Given the description of an element on the screen output the (x, y) to click on. 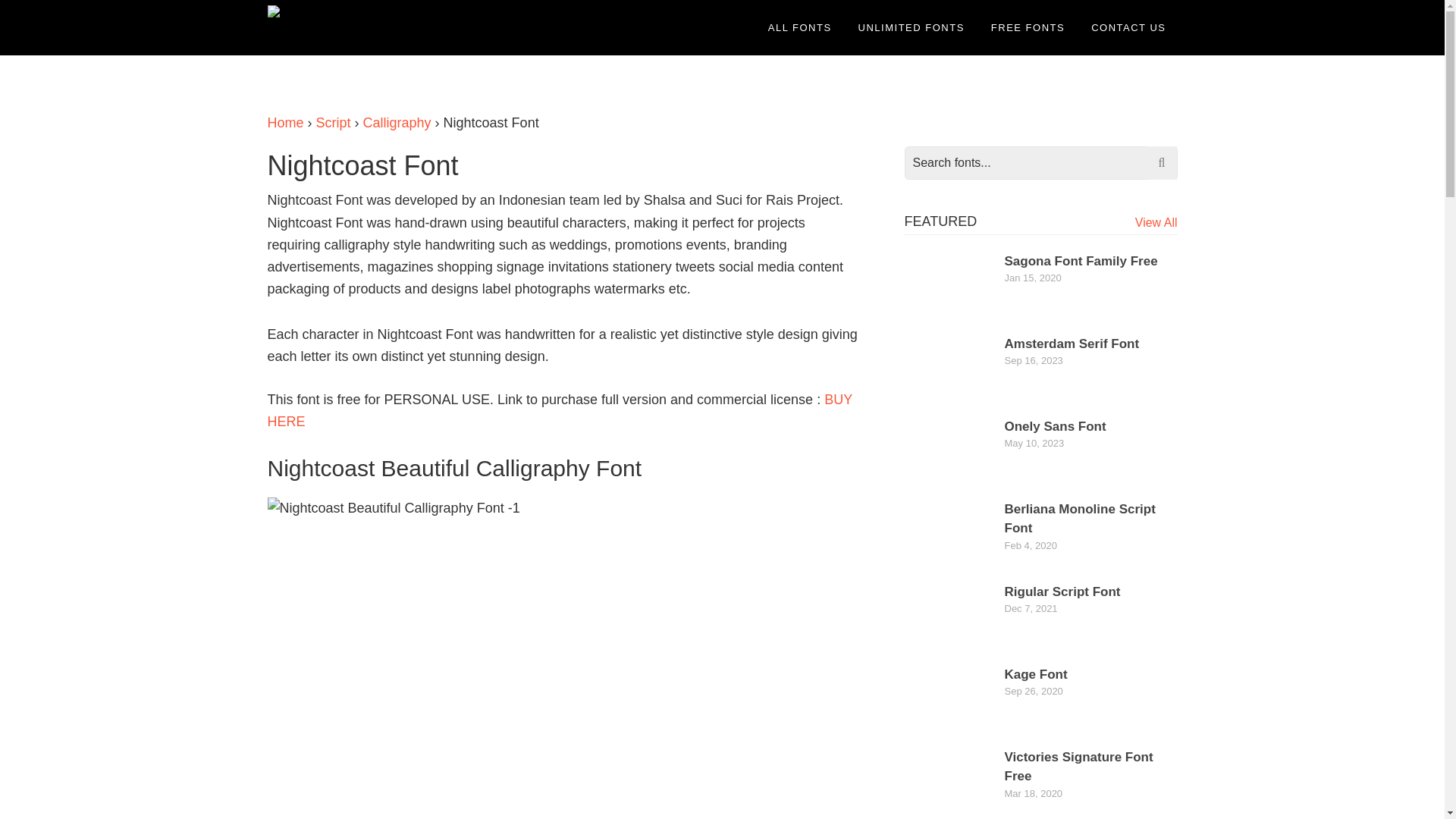
UNLIMITED FONTS (911, 27)
FREE FONTS (1027, 27)
Home (284, 122)
ALL FONTS (800, 27)
Script (332, 122)
Calligraphy (396, 122)
CONTACT US (1128, 27)
BUY HERE (558, 410)
